Given the description of an element on the screen output the (x, y) to click on. 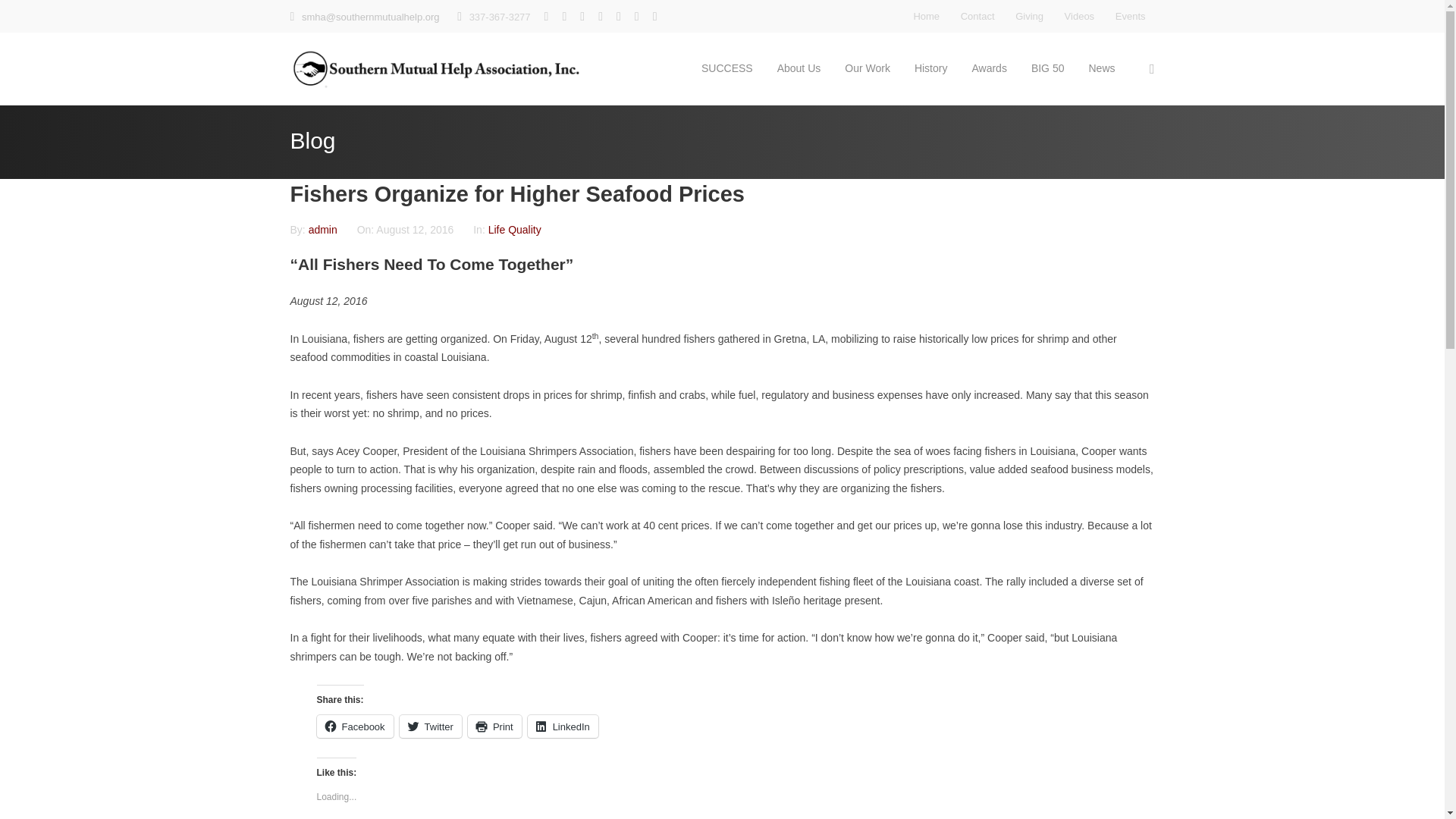
Click to share on Facebook (355, 725)
337-367-3277 (499, 16)
Click to share on Twitter (429, 725)
Events (1130, 15)
Click to print (494, 725)
Contact (977, 15)
Videos (1079, 15)
Click to share on LinkedIn (562, 725)
